Given the description of an element on the screen output the (x, y) to click on. 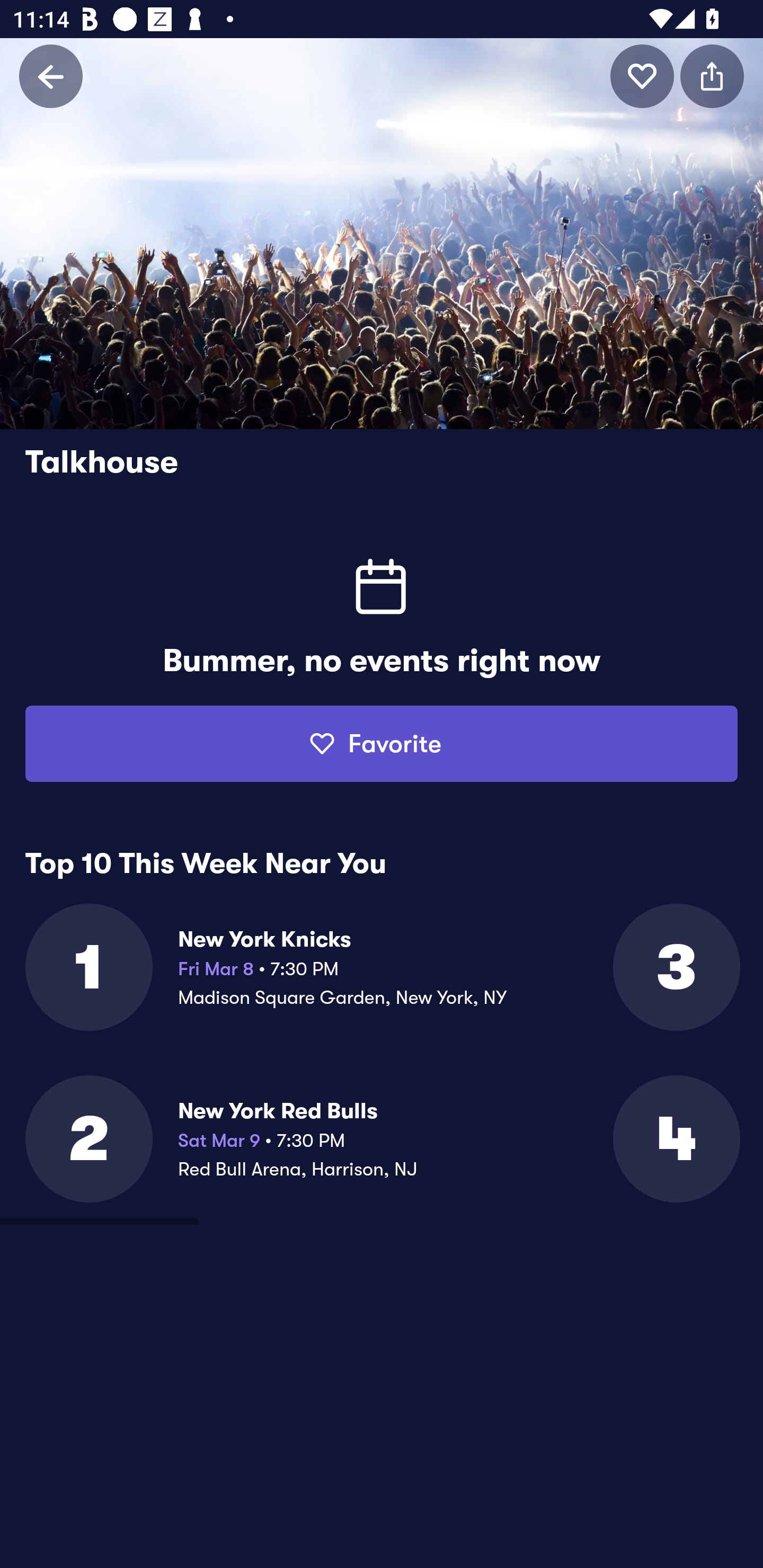
Back (50, 75)
icon button (641, 75)
icon button (711, 75)
Favorite (381, 743)
3 (675, 967)
4 (675, 1138)
